Given the description of an element on the screen output the (x, y) to click on. 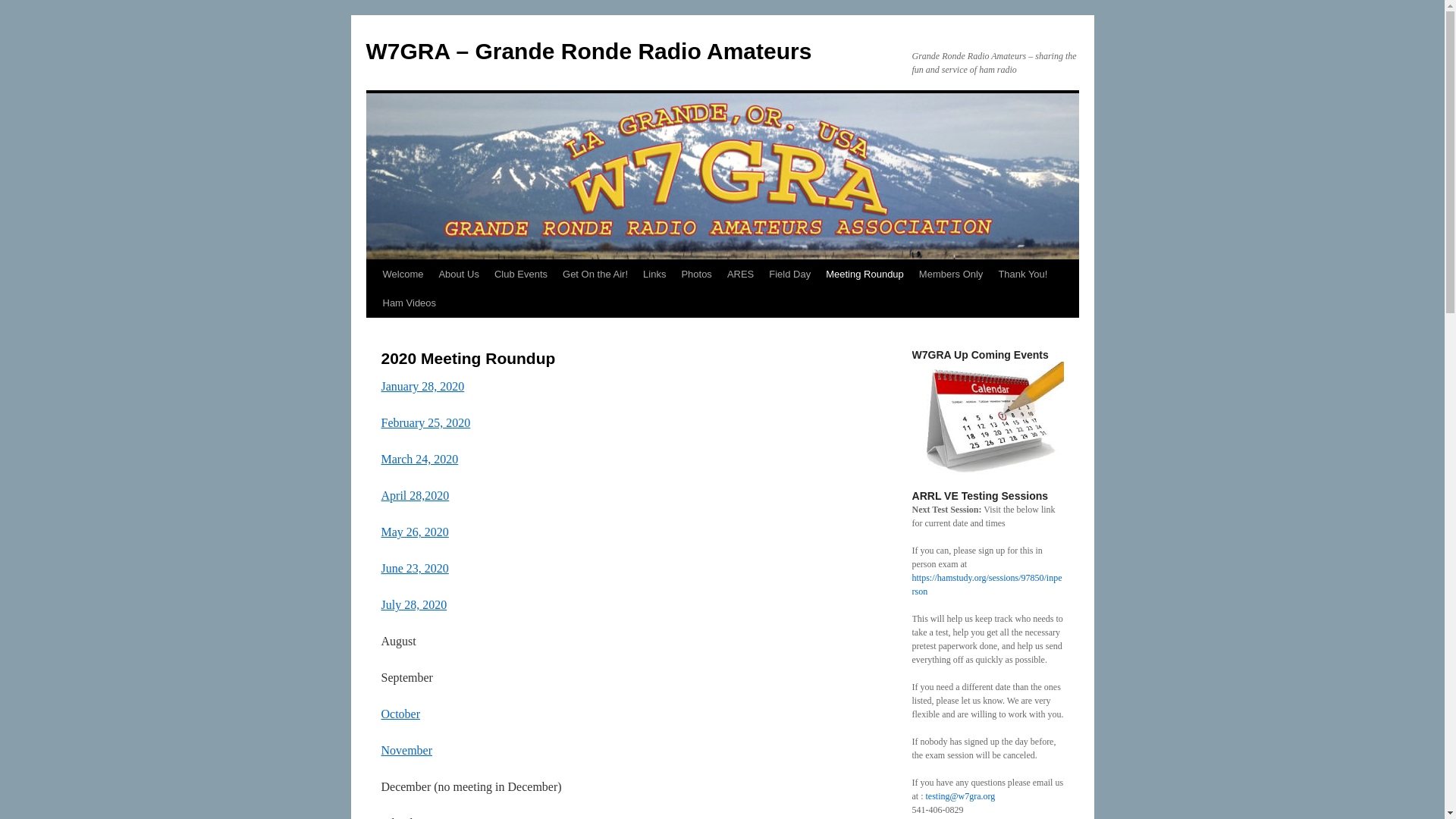
                         W7GRA Up Coming Events (986, 418)
Get On the Air! (594, 274)
ARES (740, 274)
Field Day (789, 274)
Links (653, 274)
Club Events (520, 274)
Welcome (402, 274)
Meeting Roundup (864, 274)
Photos (695, 274)
About Us (458, 274)
